Given the description of an element on the screen output the (x, y) to click on. 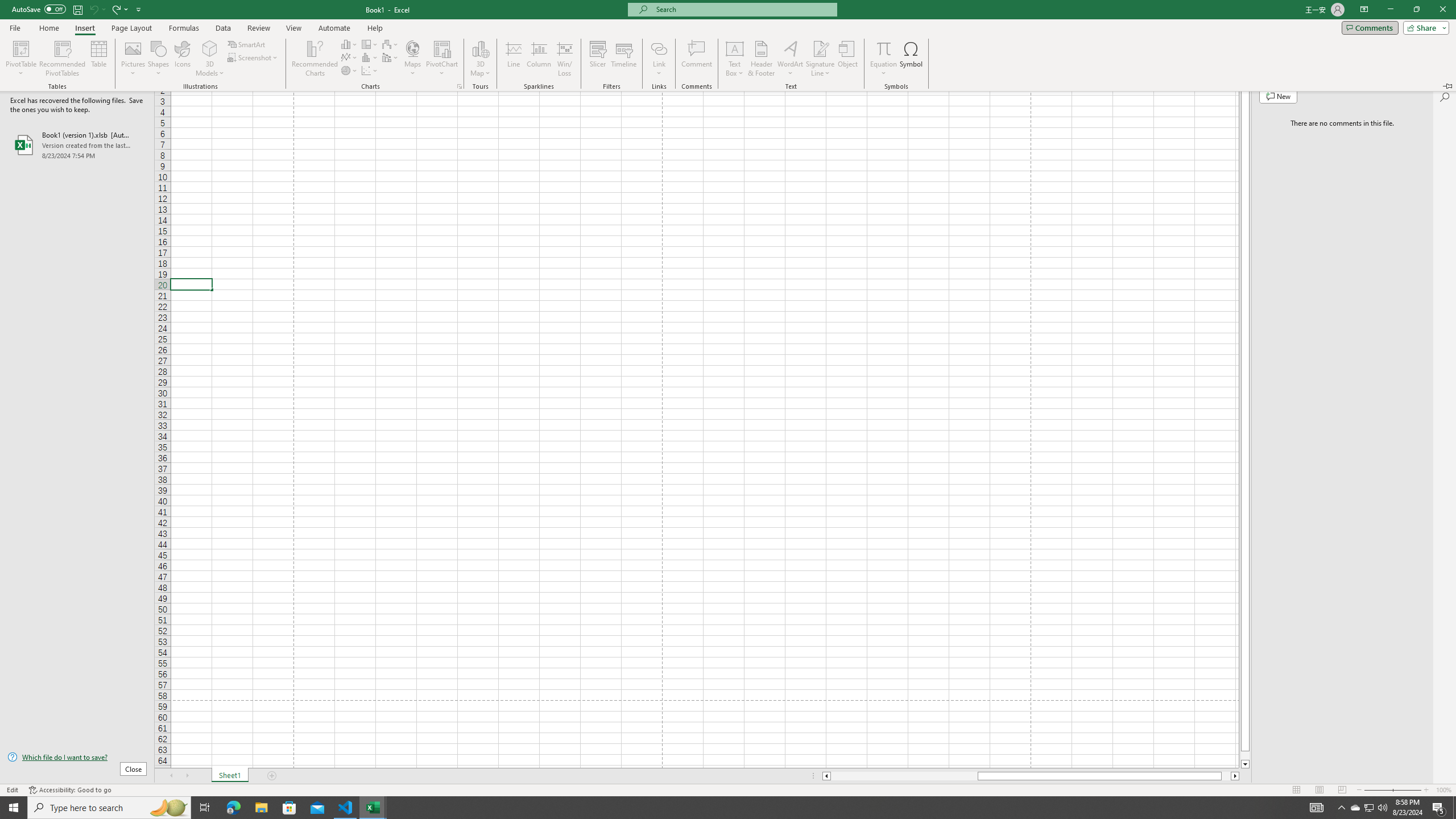
Action Center, 5 new notifications (1439, 807)
User Promoted Notification Area (1368, 807)
File Explorer (261, 807)
Notification Chevron (1341, 807)
Search highlights icon opens search home window (167, 807)
Microsoft Edge (233, 807)
